Given the description of an element on the screen output the (x, y) to click on. 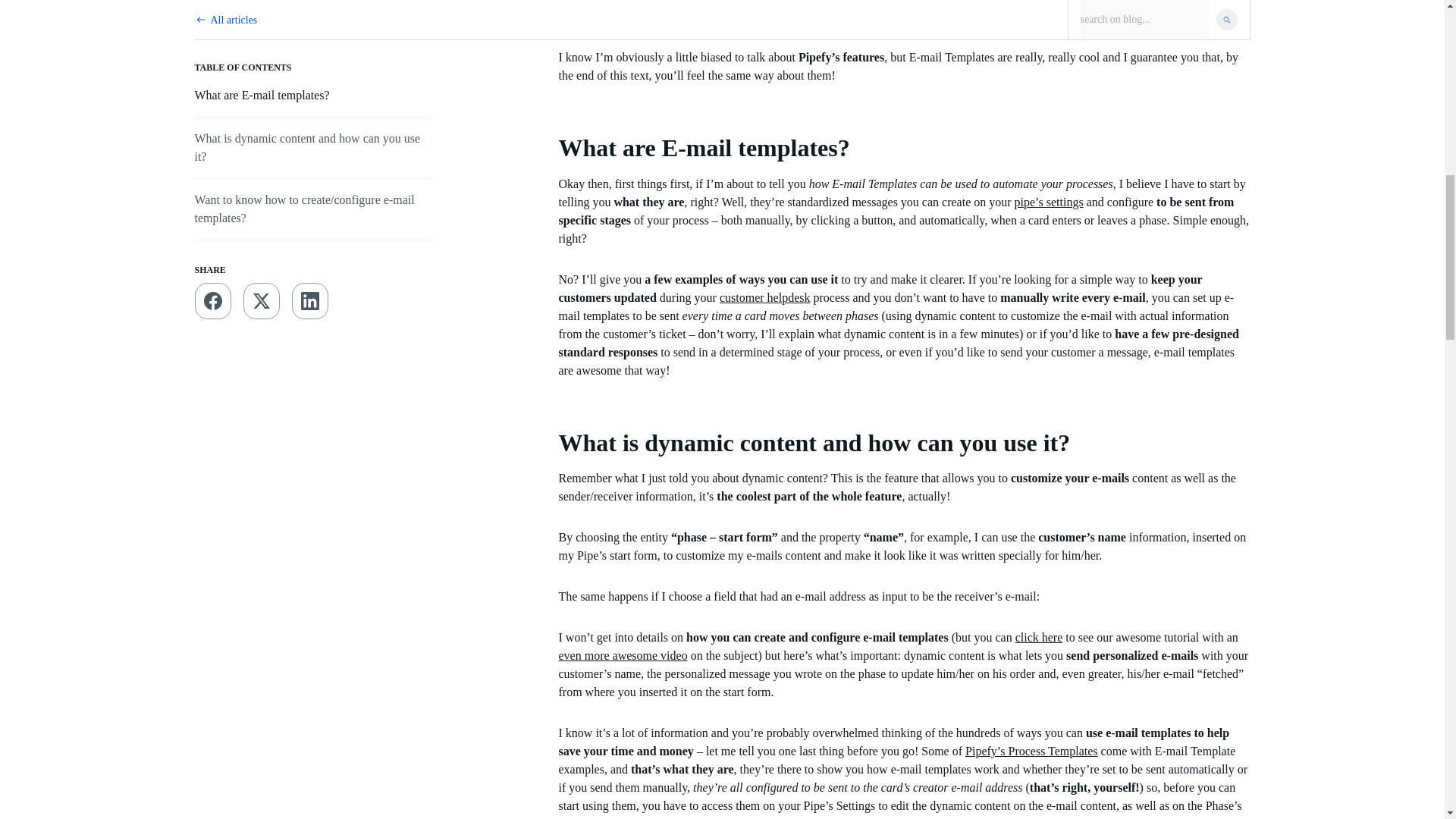
customer helpdesk (764, 297)
pros and cons of process automation (772, 2)
even more awesome video (622, 655)
click here (1038, 636)
workflow (619, 2)
